Given the description of an element on the screen output the (x, y) to click on. 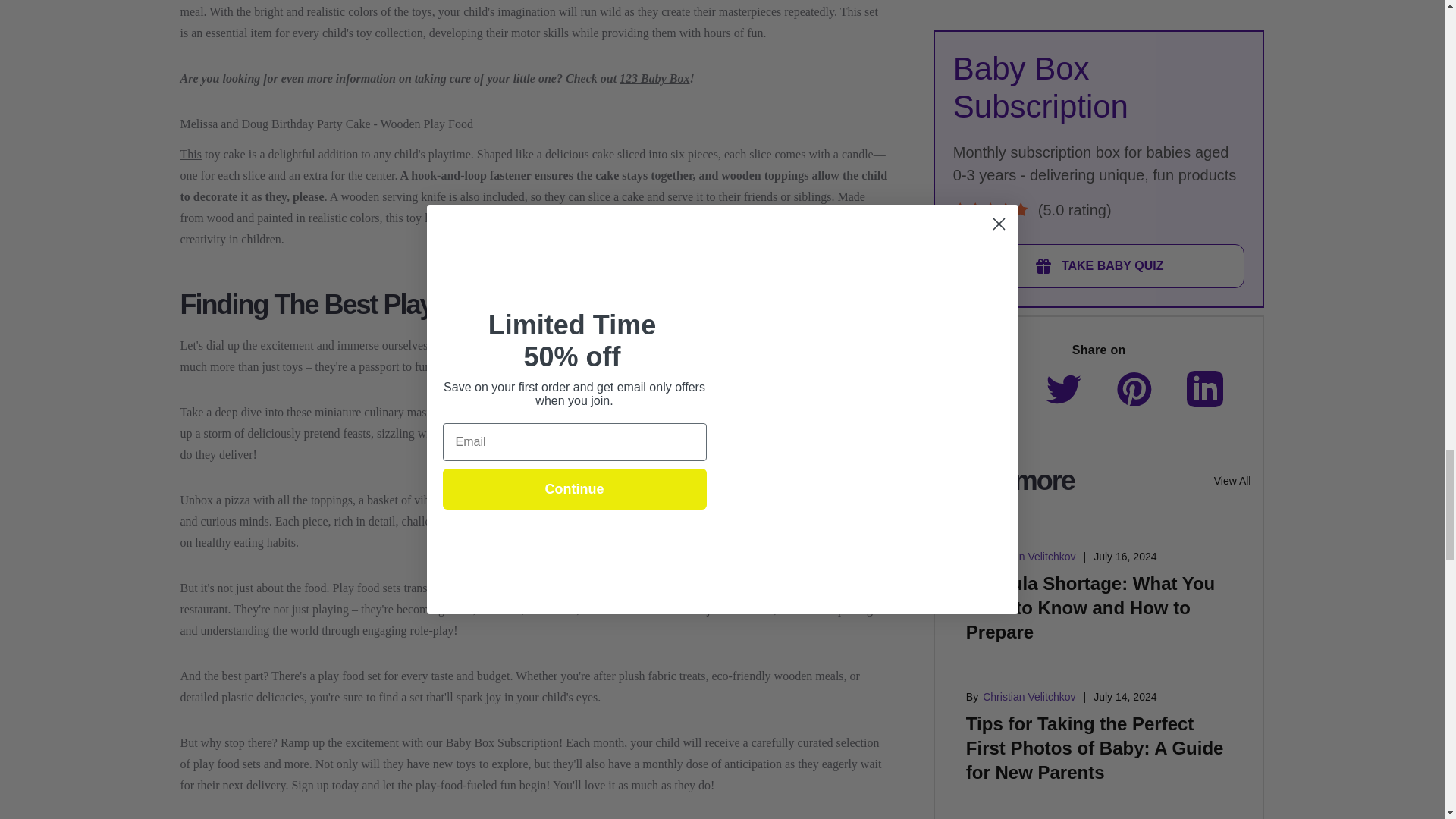
Baby Box Subscription (502, 742)
123 Baby Box (654, 78)
This (191, 154)
